Given the description of an element on the screen output the (x, y) to click on. 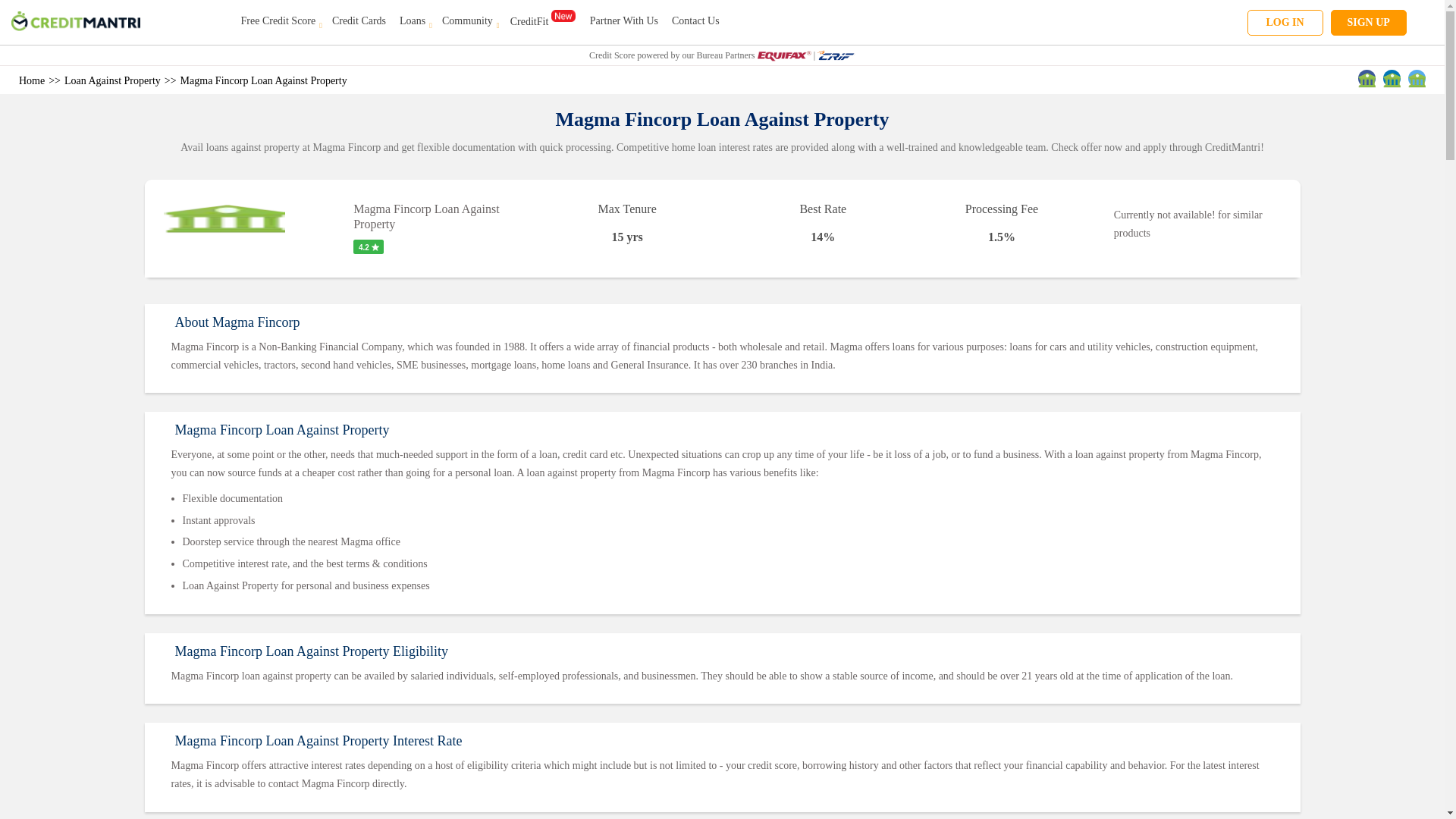
Home (31, 80)
Home (31, 80)
Share this page on Twitter (1416, 77)
Share this page on Facebook (1366, 77)
Loan Against Property (112, 80)
Contact Us (695, 19)
Free Credit Score (279, 19)
Loan Against Property (112, 80)
Magma Fincorp Loan Against Property (263, 80)
Partner With Us (623, 19)
